Given the description of an element on the screen output the (x, y) to click on. 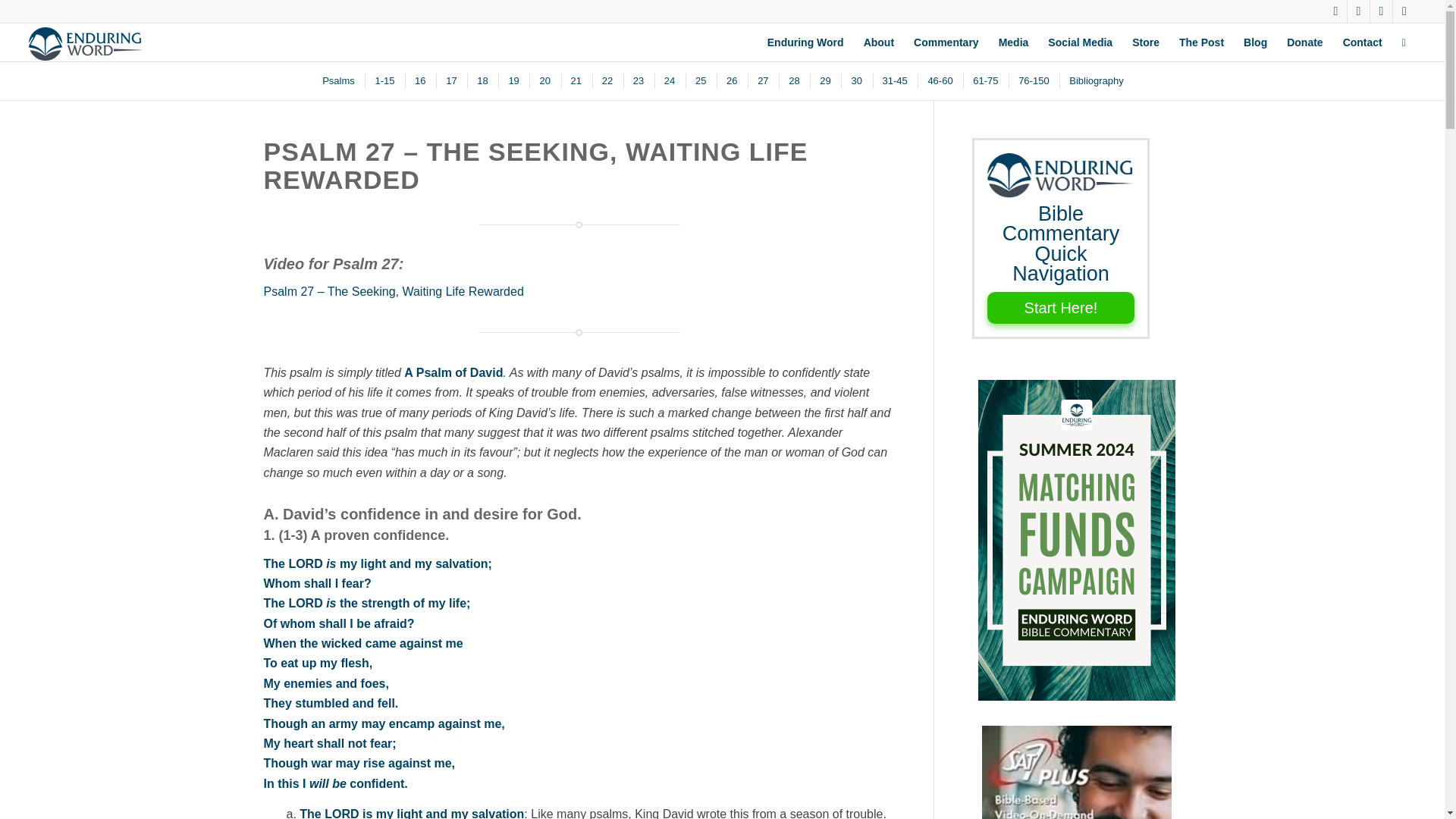
Enduring Word (805, 42)
Twitter (1335, 11)
Media (1013, 42)
Instagram (1380, 11)
Youtube (1404, 11)
Commentary (946, 42)
About (878, 42)
Facebook (1359, 11)
